Given the description of an element on the screen output the (x, y) to click on. 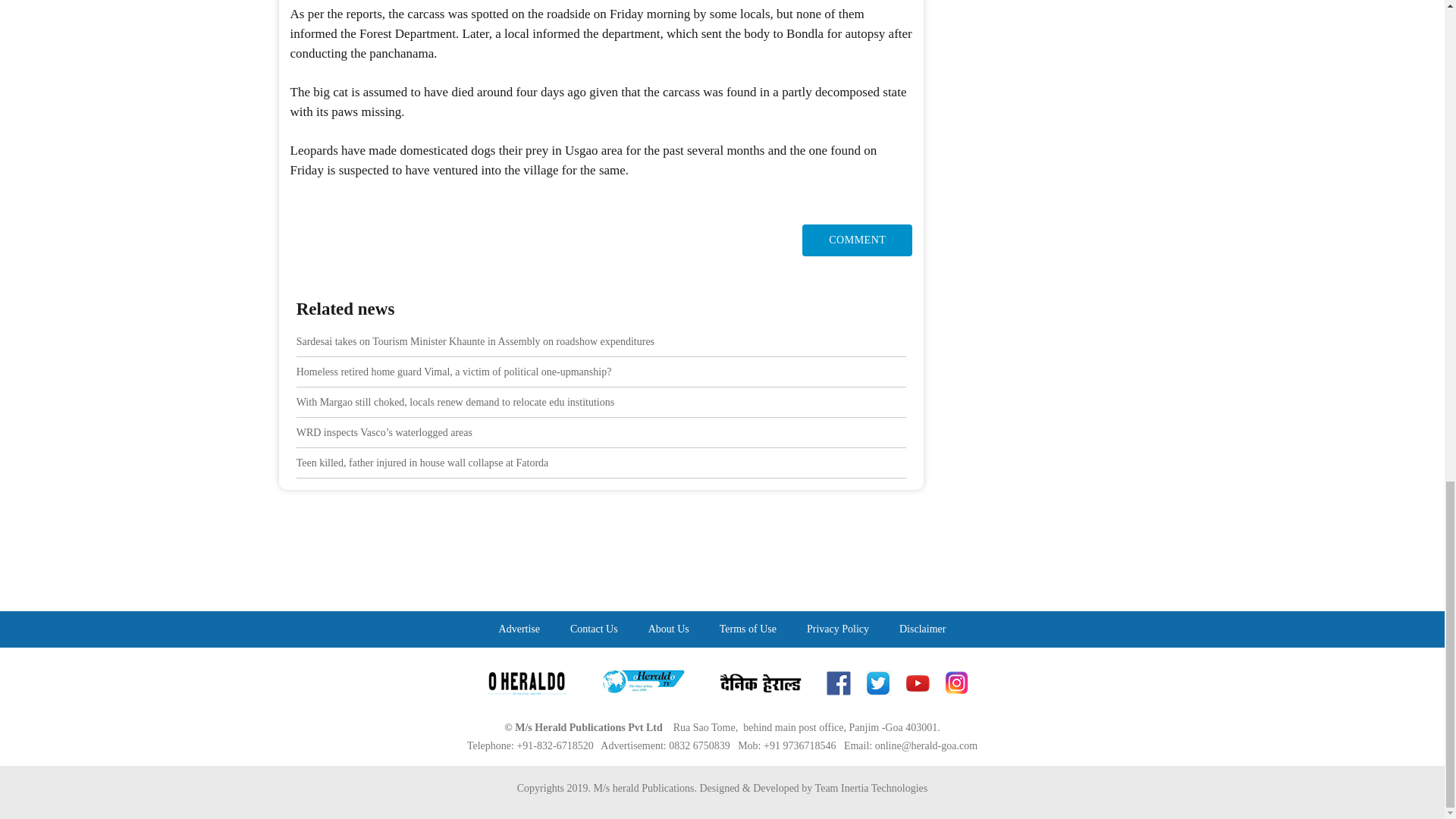
Advertisement (721, 569)
